Given the description of an element on the screen output the (x, y) to click on. 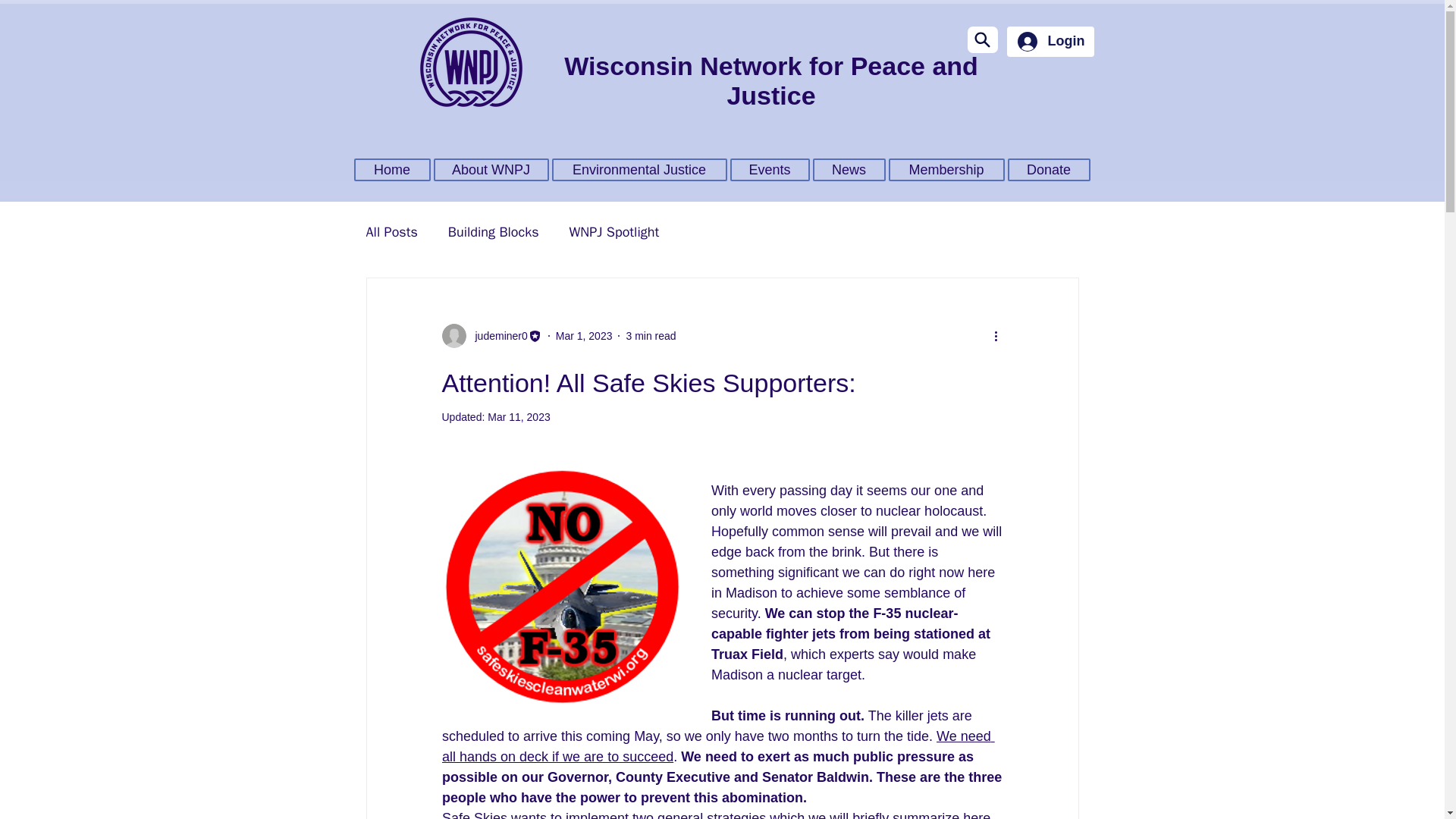
judeminer0 (491, 335)
judeminer0 (496, 335)
WNPJ Spotlight (614, 231)
Mar 1, 2023 (584, 335)
Donate (1048, 169)
Home (391, 169)
Wisconsin Network for Peace and Justice (771, 80)
All Posts (390, 231)
Environmental Justice (638, 169)
Mar 11, 2023 (518, 417)
